Given the description of an element on the screen output the (x, y) to click on. 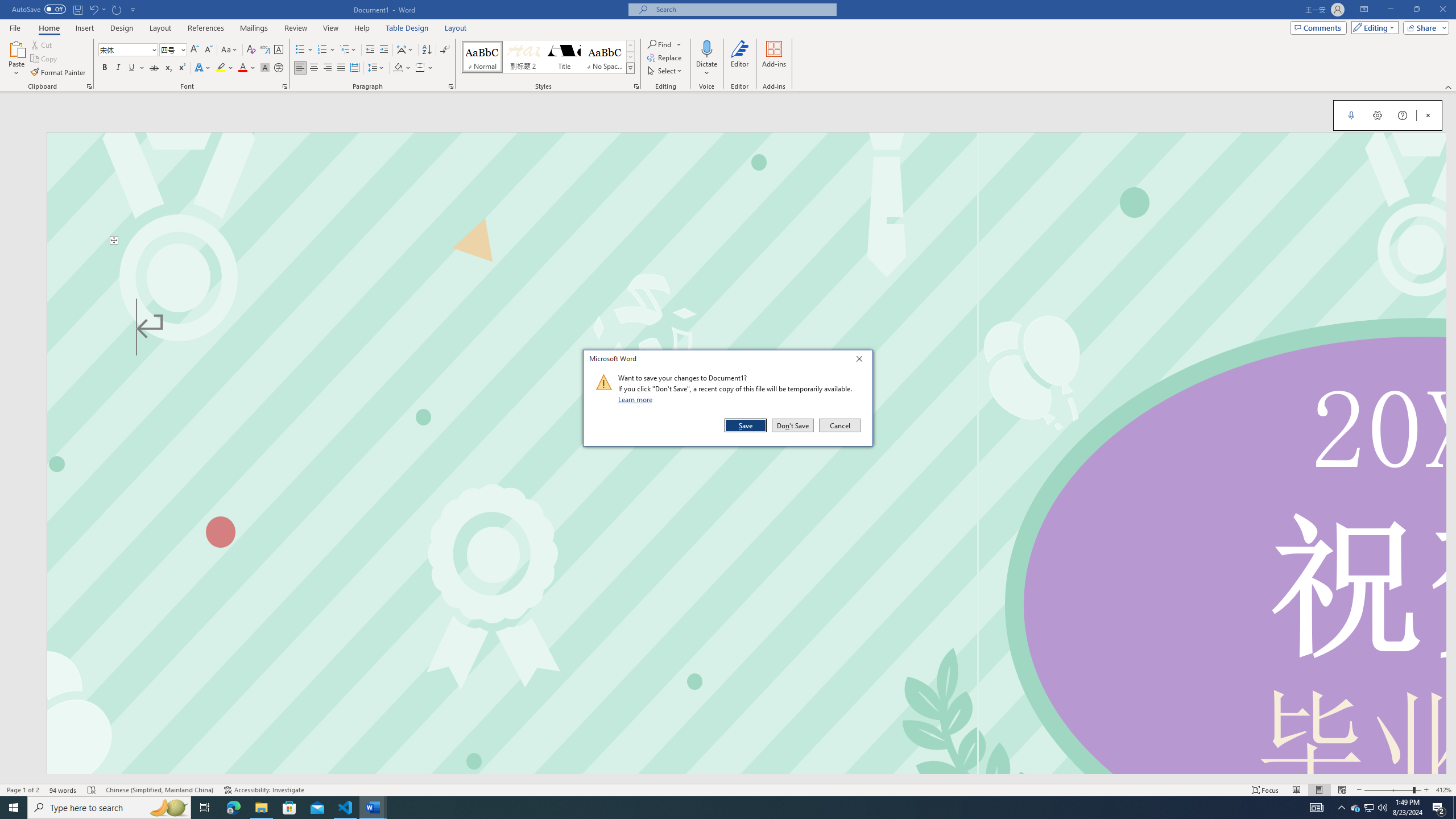
Microsoft Edge (233, 807)
Action Center, 2 new notifications (1439, 807)
User Promoted Notification Area (1368, 807)
First Page Header -Section 1- (745, 187)
Start (13, 807)
